Given the description of an element on the screen output the (x, y) to click on. 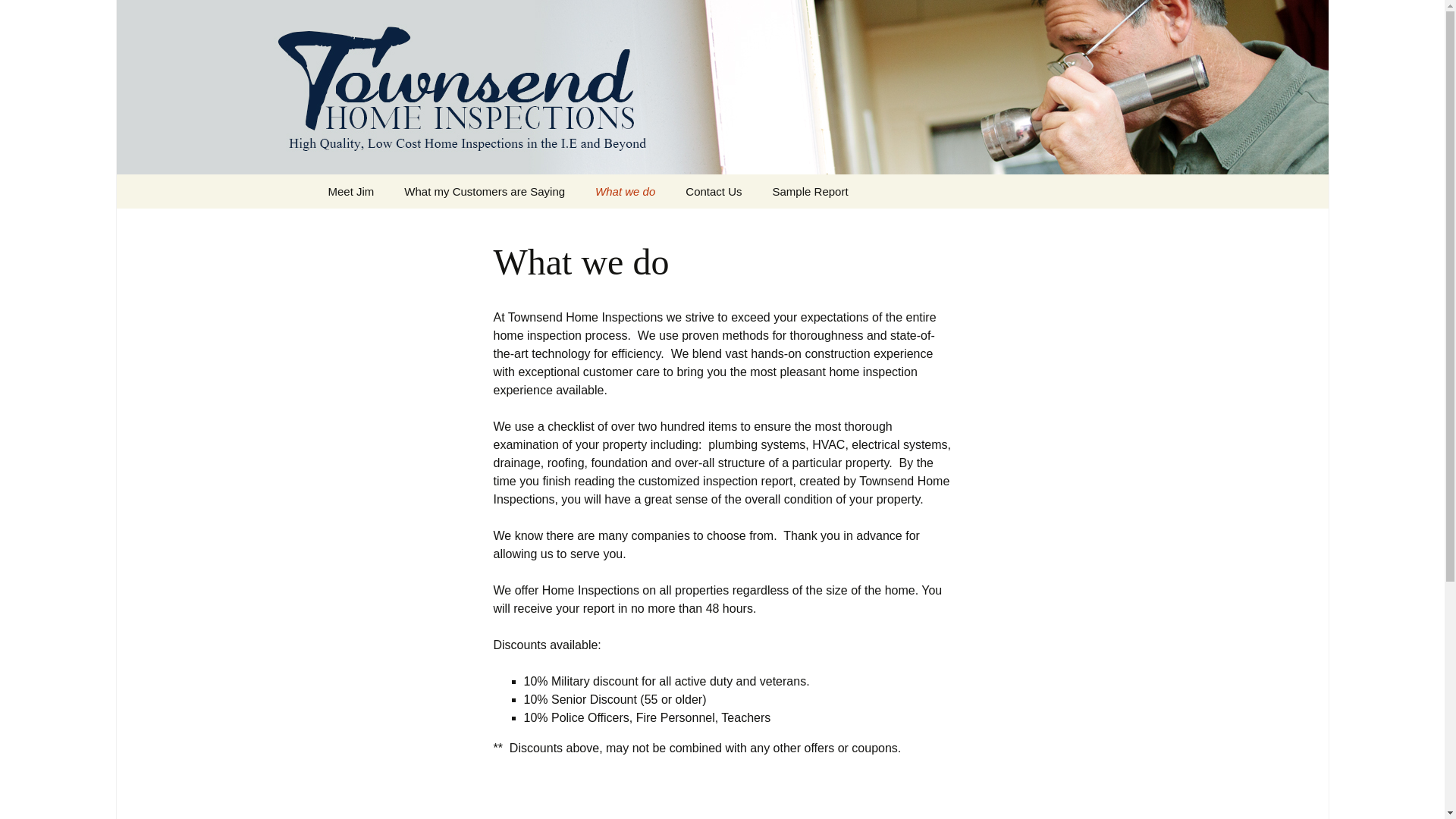
Skip to content (353, 183)
Search for: (1103, 191)
Sample Report (810, 191)
Search (18, 15)
What my Customers are Saying (483, 191)
What we do (624, 191)
Contact Us (713, 191)
Meet Jim (350, 191)
Skip to content (353, 183)
